Given the description of an element on the screen output the (x, y) to click on. 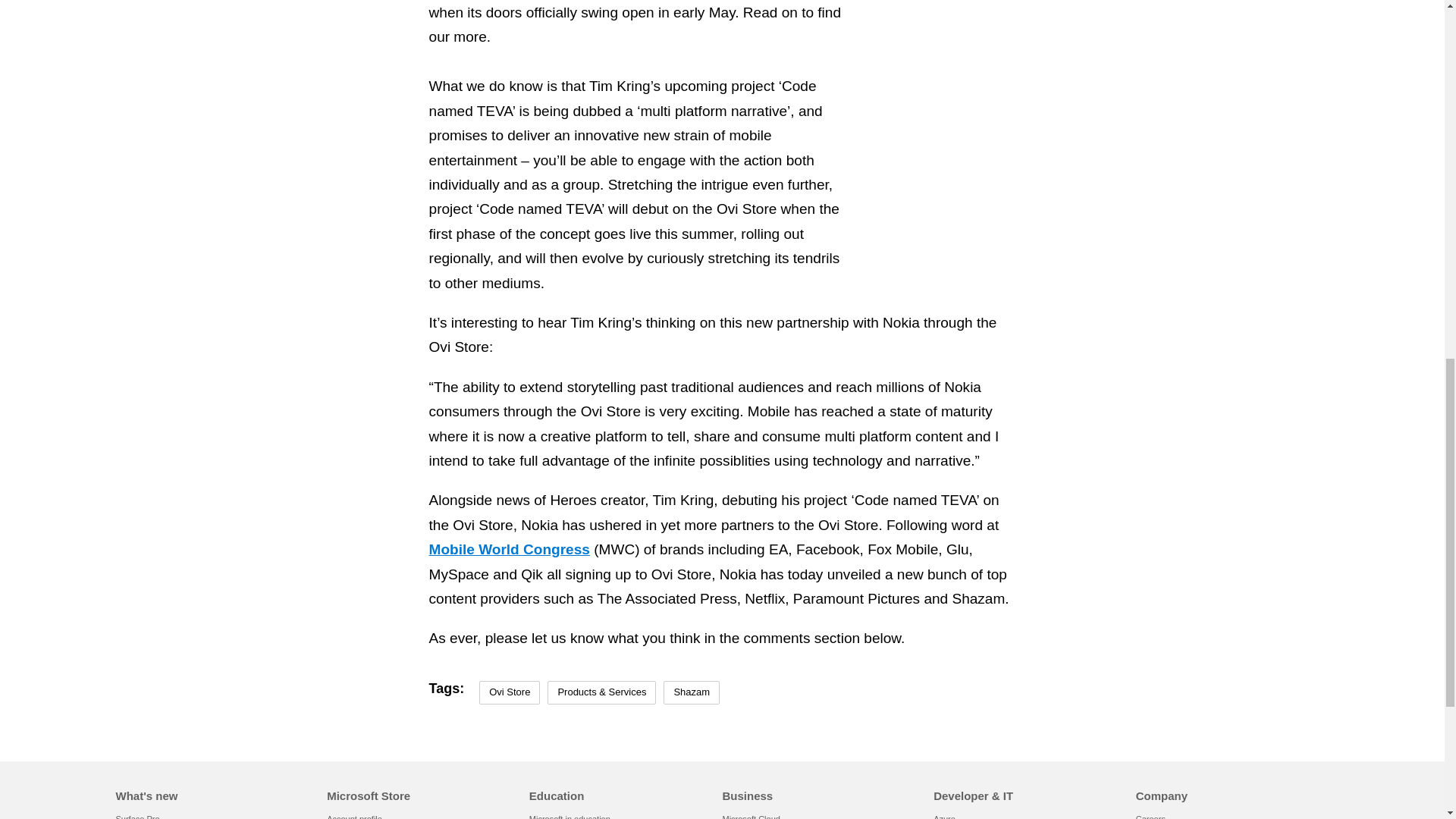
Nokia Ovi Store 'Code name TEVA' (1098, 114)
Ovi Store Tag (509, 692)
Shazam Tag (691, 692)
